Given the description of an element on the screen output the (x, y) to click on. 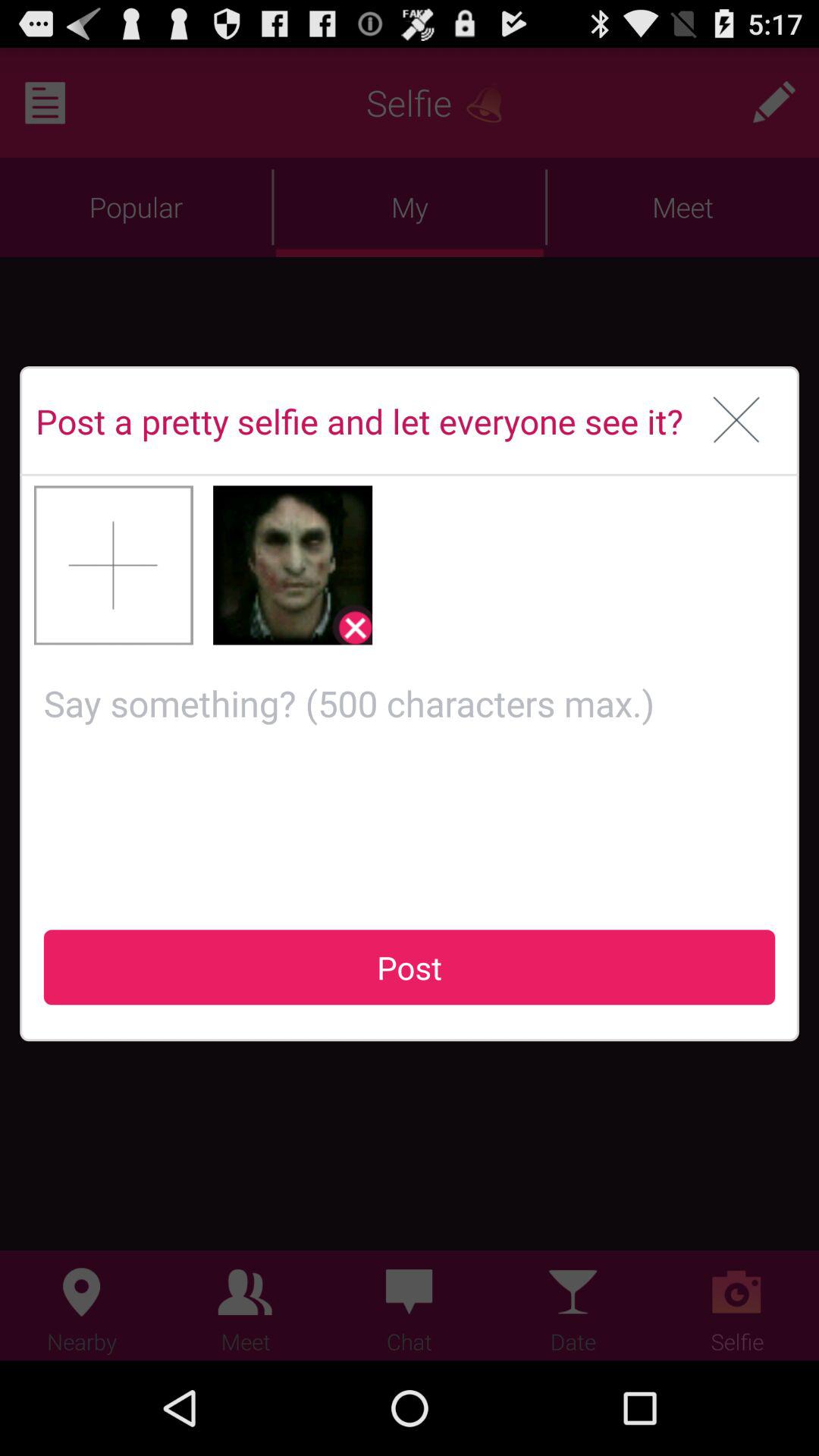
press app to the right of the post a pretty item (736, 421)
